Given the description of an element on the screen output the (x, y) to click on. 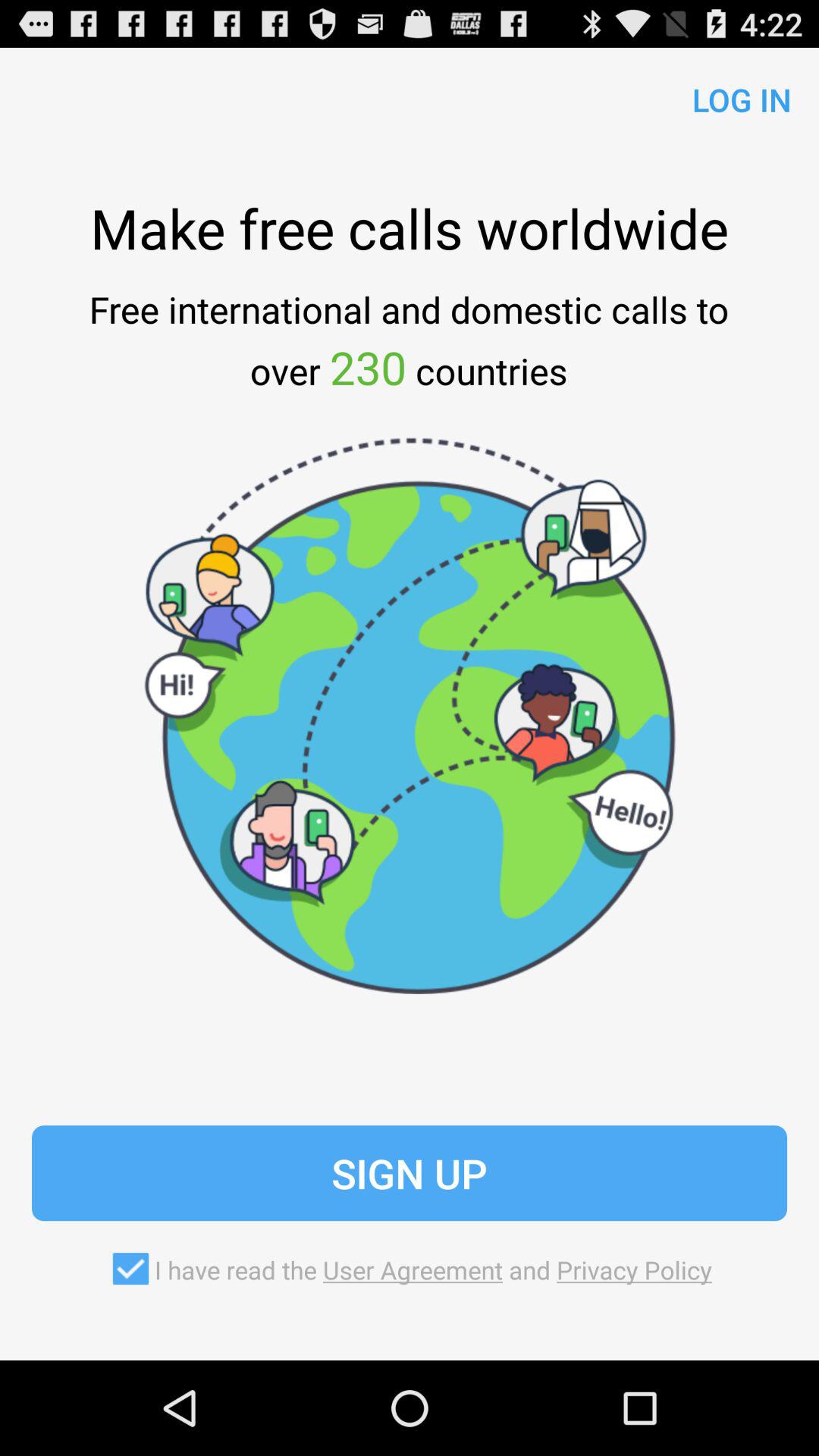
jump until sign up item (409, 1173)
